Given the description of an element on the screen output the (x, y) to click on. 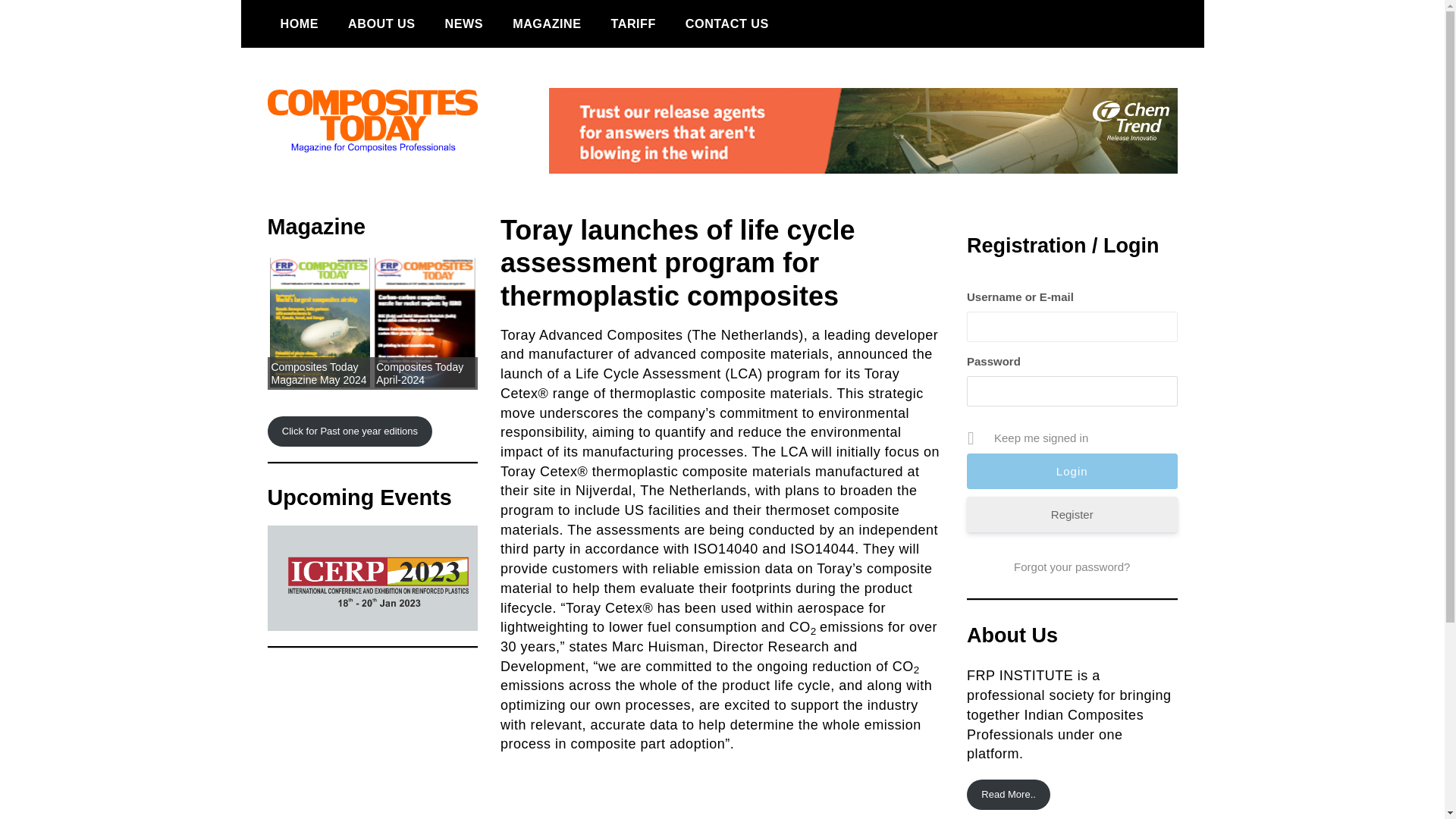
MAGAZINE (546, 23)
Read More.. (1007, 794)
TARIFF (632, 23)
Forgot your password? (1071, 566)
CONTACT US (727, 23)
Composites Today Magazine May 2024 (318, 373)
Composites Today (346, 196)
Register (1071, 514)
Click for Past one year editions (349, 431)
Login (1071, 470)
Composites Today April-2024 (419, 373)
ABOUT US (381, 23)
HOME (298, 23)
NEWS (464, 23)
Login (1071, 470)
